Given the description of an element on the screen output the (x, y) to click on. 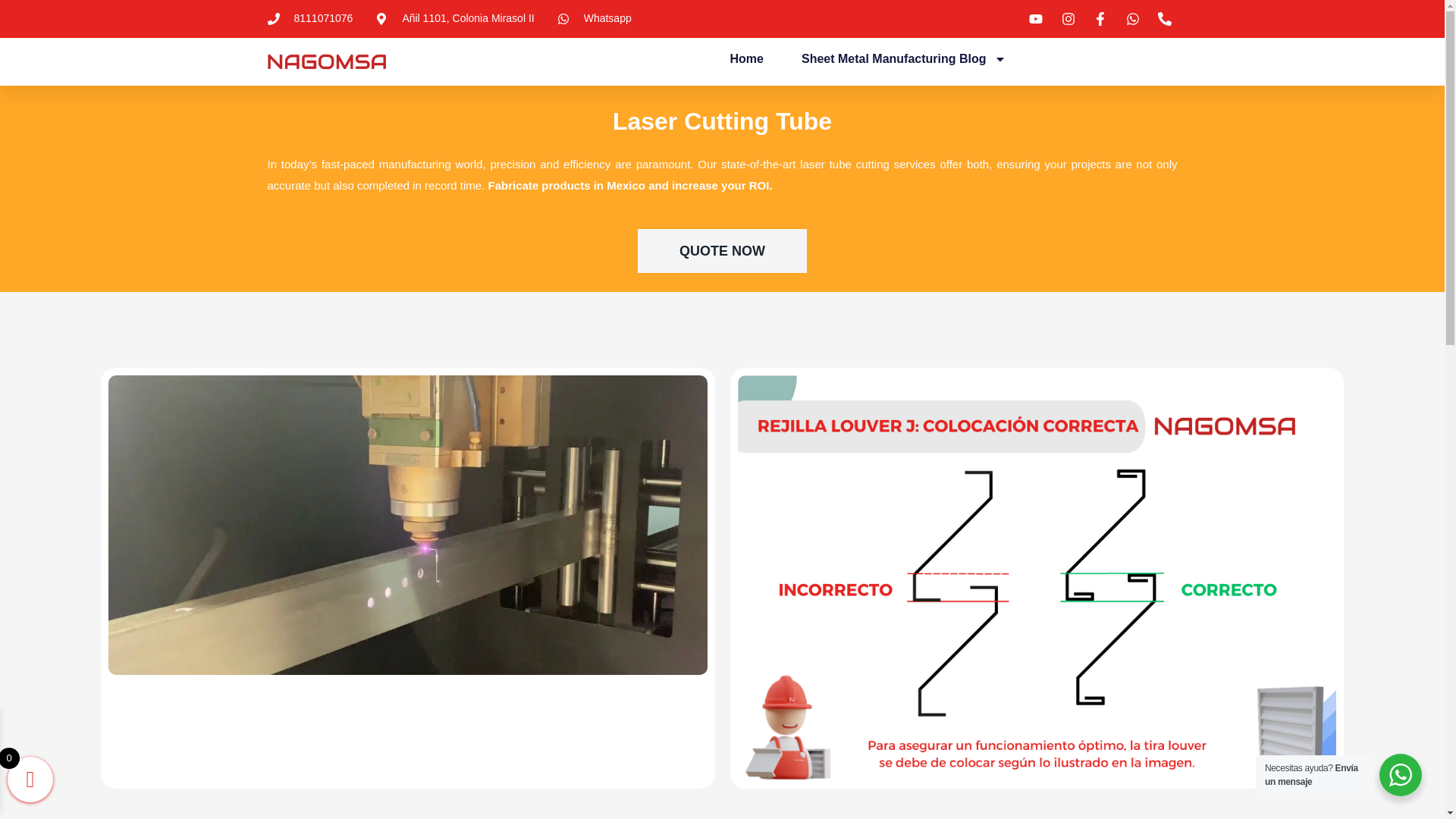
Sheet Metal Manufacturing Blog (904, 58)
Whatsapp (594, 18)
8111071076 (309, 18)
Home (745, 58)
